Given the description of an element on the screen output the (x, y) to click on. 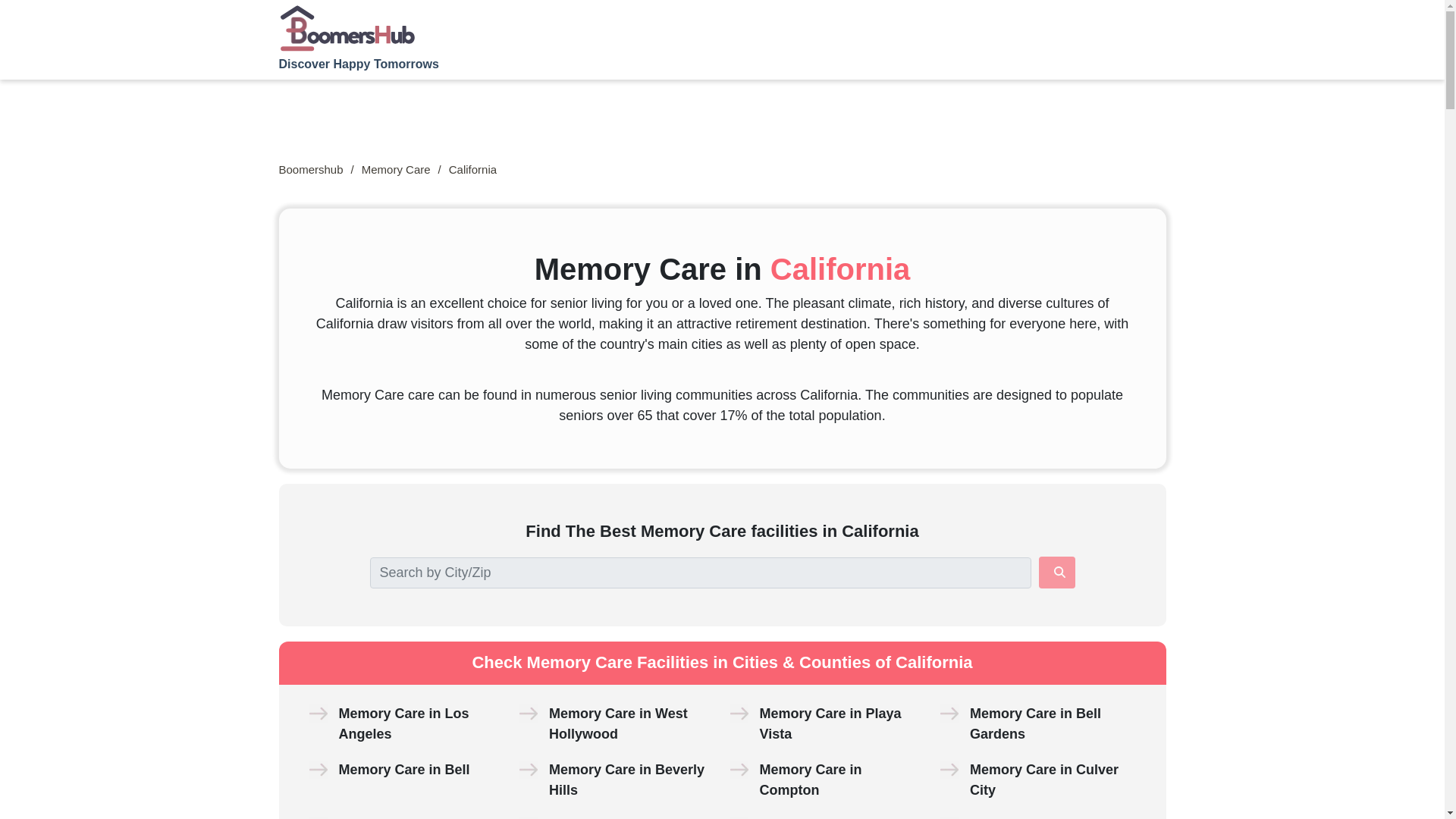
Memory Care in Playa Vista (830, 723)
Boomershub (311, 170)
Memory Care in Los Angeles (402, 723)
Memory Care facilities in California (472, 169)
Memory Care in Bell Gardens (1034, 723)
Memory Care (395, 170)
Boomershub (311, 170)
Memory Care in Culver City (1043, 779)
Memory Care in West Hollywood (617, 723)
